Given the description of an element on the screen output the (x, y) to click on. 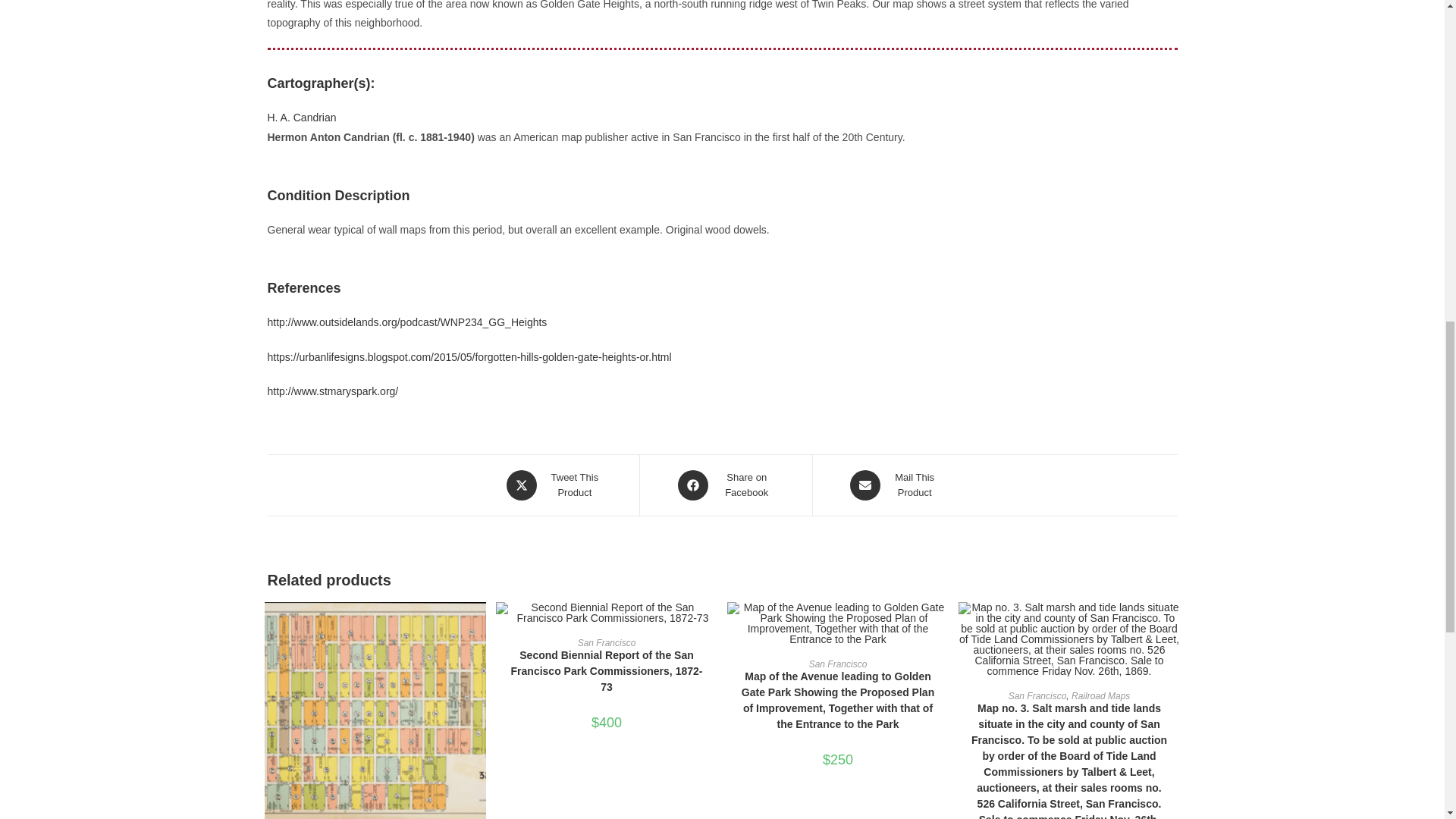
H. A. Candrian (301, 117)
